Given the description of an element on the screen output the (x, y) to click on. 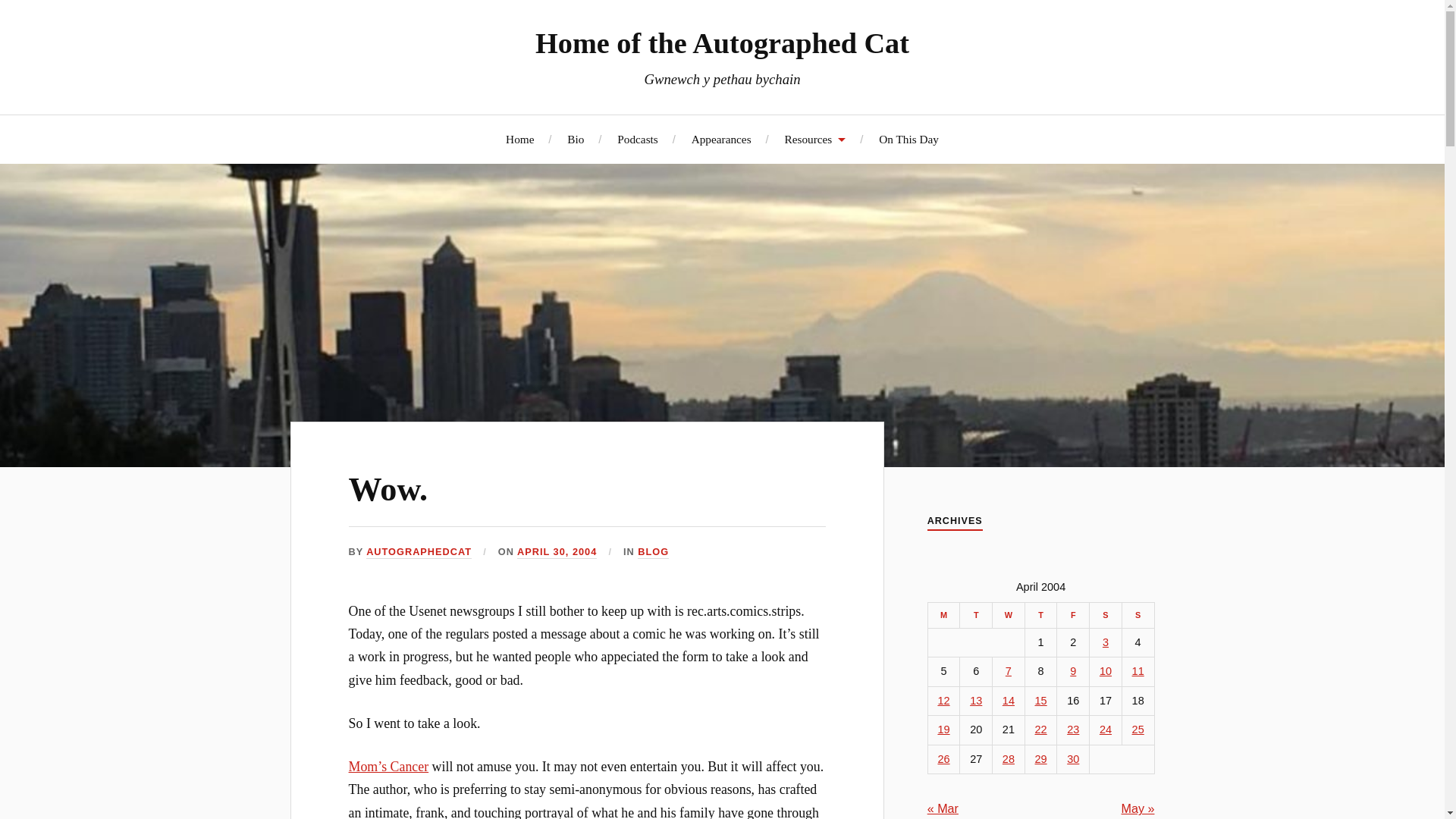
APRIL 30, 2004 (556, 552)
Monday (943, 614)
AUTOGRAPHEDCAT (418, 552)
Wow. (388, 488)
Thursday (1041, 614)
BLOG (652, 552)
Resources (814, 138)
Home of the Autographed Cat (721, 42)
On This Day (909, 138)
Saturday (1105, 614)
Friday (1073, 614)
Appearances (721, 138)
Tuesday (975, 614)
Posts by autographedcat (418, 552)
Sunday (1137, 614)
